Given the description of an element on the screen output the (x, y) to click on. 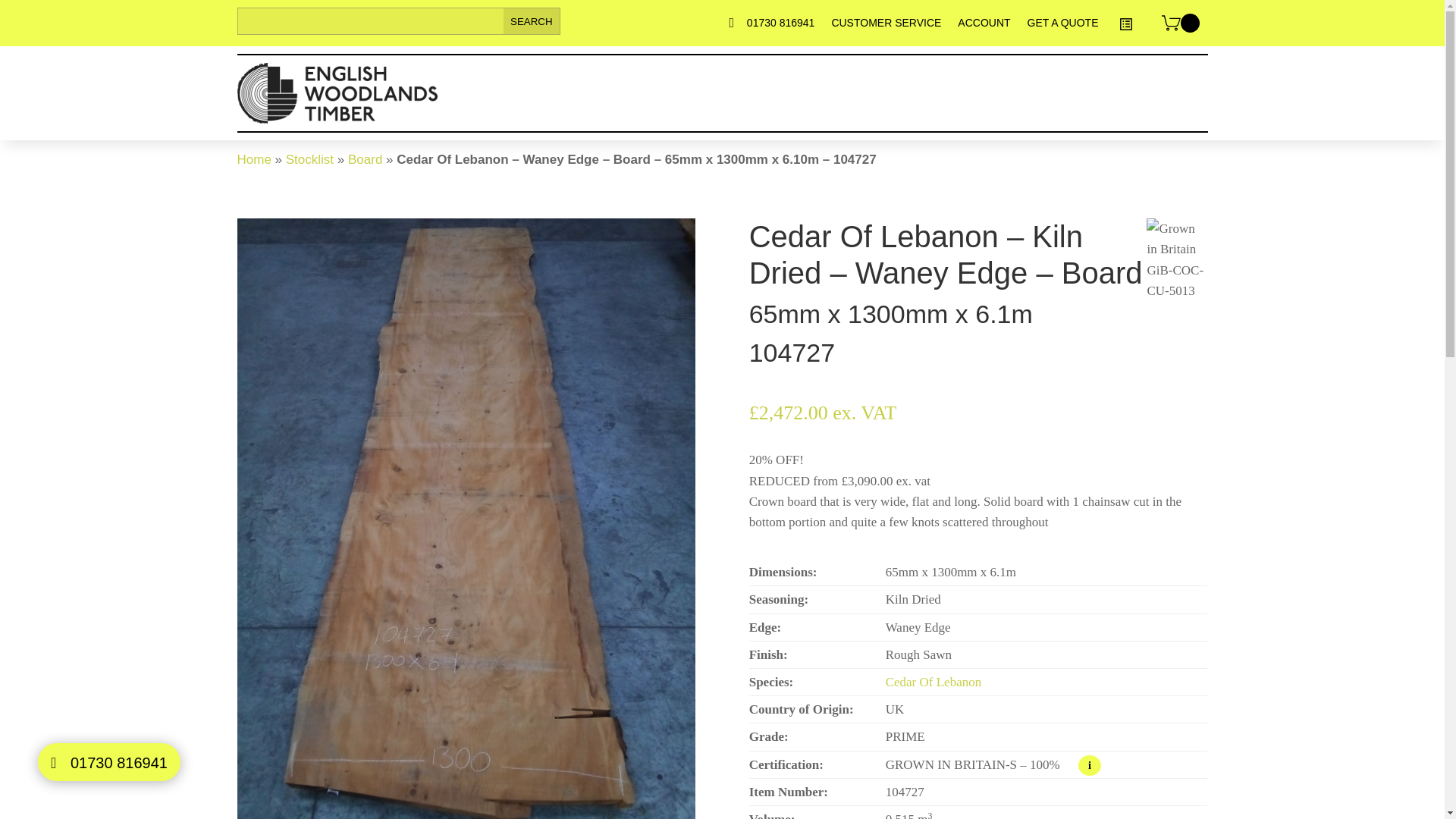
ACCOUNT (984, 27)
Search (531, 21)
GET A QUOTE (1063, 27)
CUSTOMER SERVICE (885, 27)
Search (531, 21)
01730 816941 (780, 27)
